Given the description of an element on the screen output the (x, y) to click on. 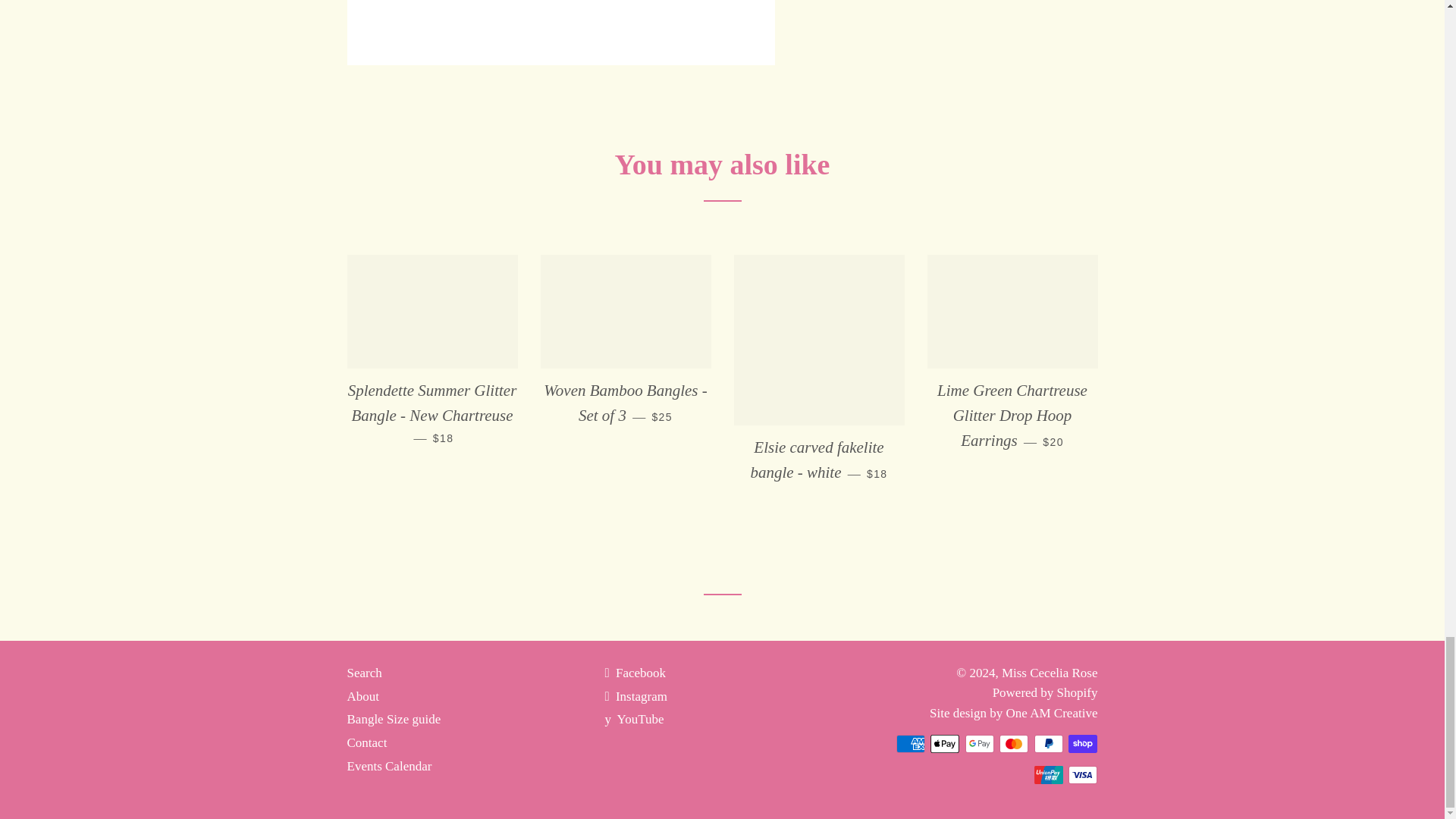
Mastercard (1012, 743)
Visa (1082, 774)
Miss Cecelia Rose on Instagram (635, 696)
Miss Cecelia Rose on YouTube (633, 718)
American Express (910, 743)
Shop Pay (1082, 743)
Google Pay (979, 743)
Miss Cecelia Rose on Facebook (634, 672)
PayPal (1047, 743)
Apple Pay (944, 743)
Union Pay (1047, 774)
